Given the description of an element on the screen output the (x, y) to click on. 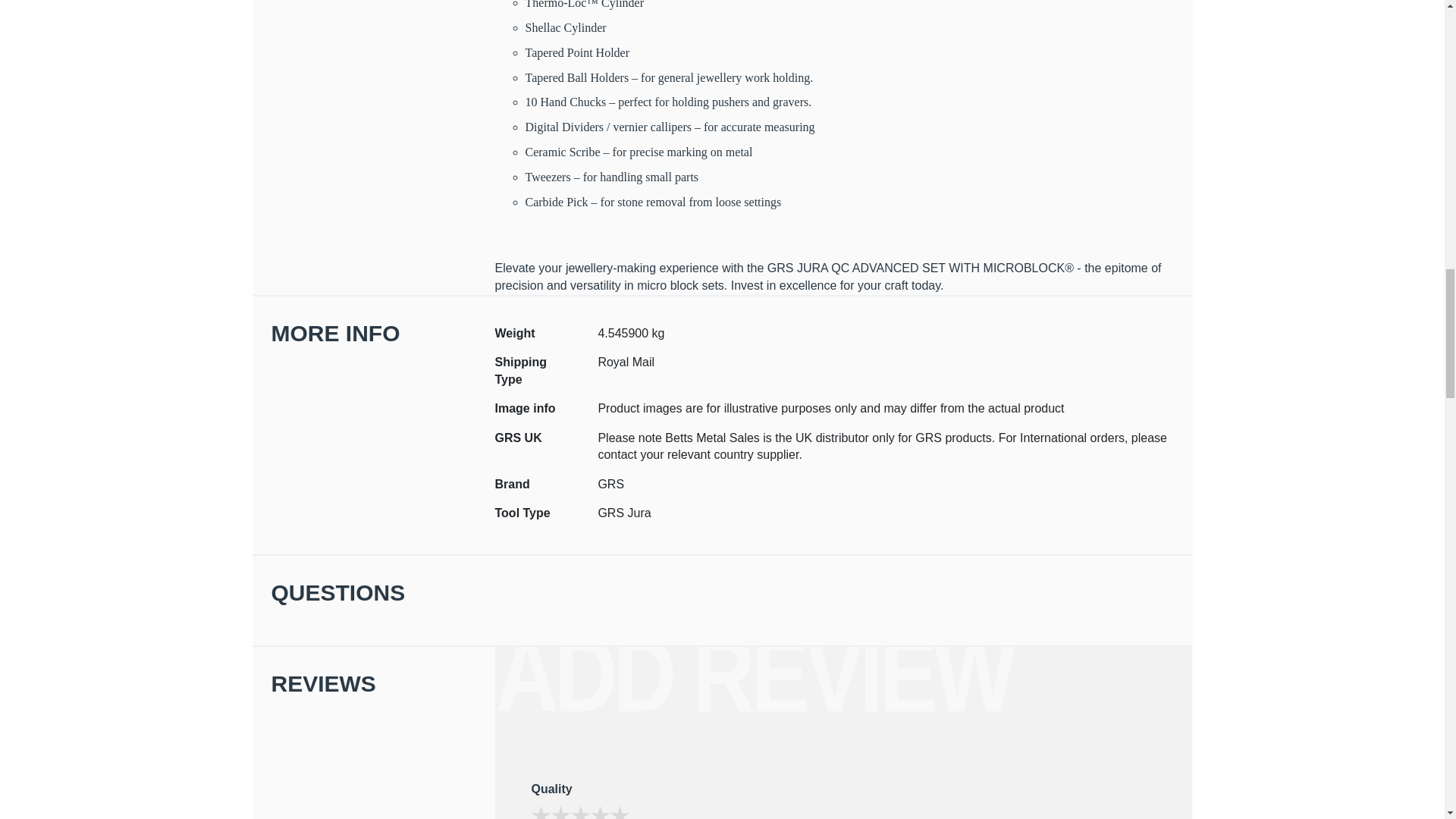
2 (537, 812)
3 (537, 812)
4 (537, 812)
5 (537, 812)
1 (537, 812)
